Given the description of an element on the screen output the (x, y) to click on. 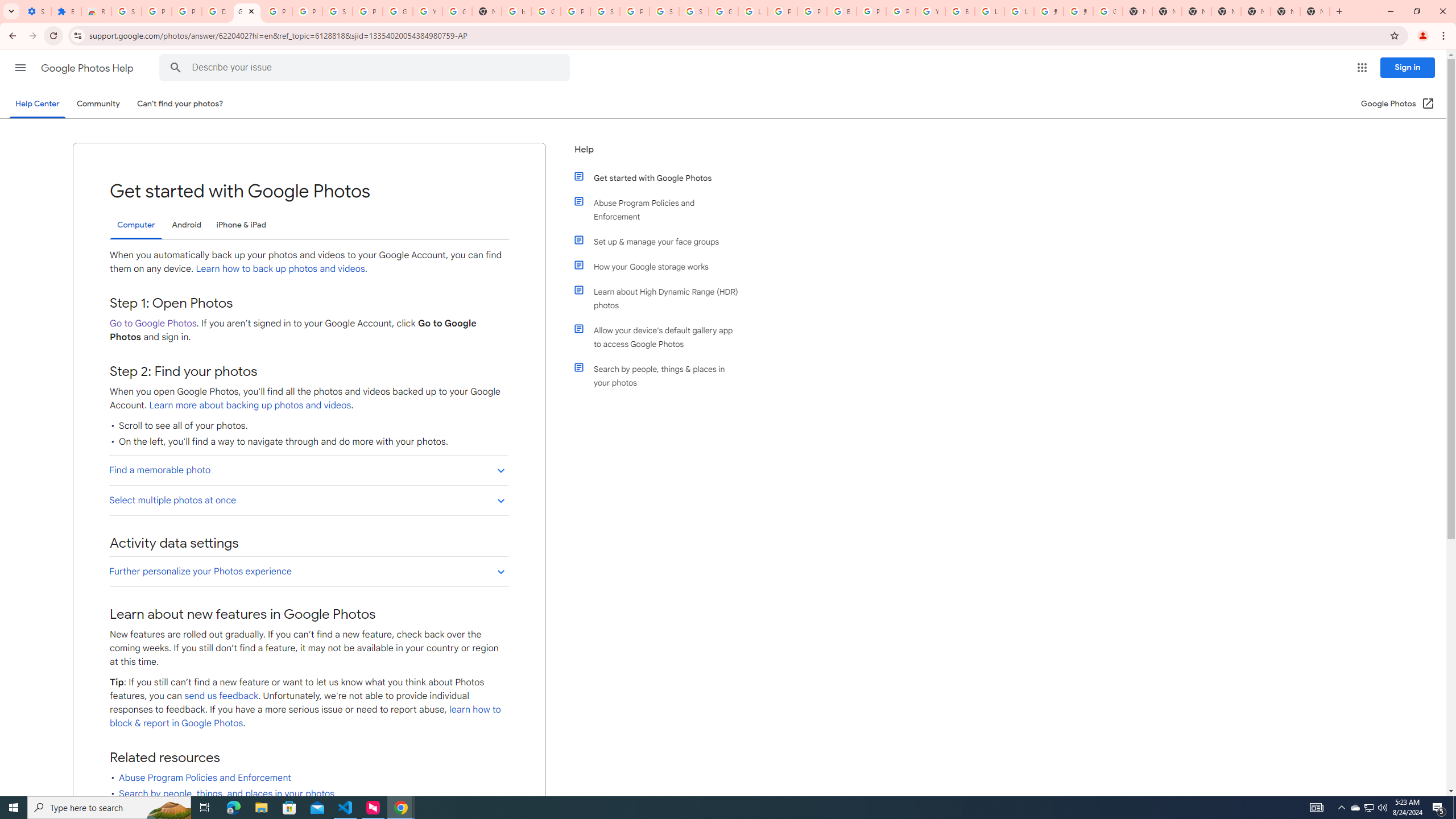
Community (97, 103)
Reviews: Helix Fruit Jump Arcade Game (95, 11)
Search Help Center (176, 67)
Settings - On startup (36, 11)
Google Photos Help (87, 68)
Learn how to back up photos and videos (280, 268)
Set up & manage your face groups (661, 241)
How your Google storage works (661, 266)
